Given the description of an element on the screen output the (x, y) to click on. 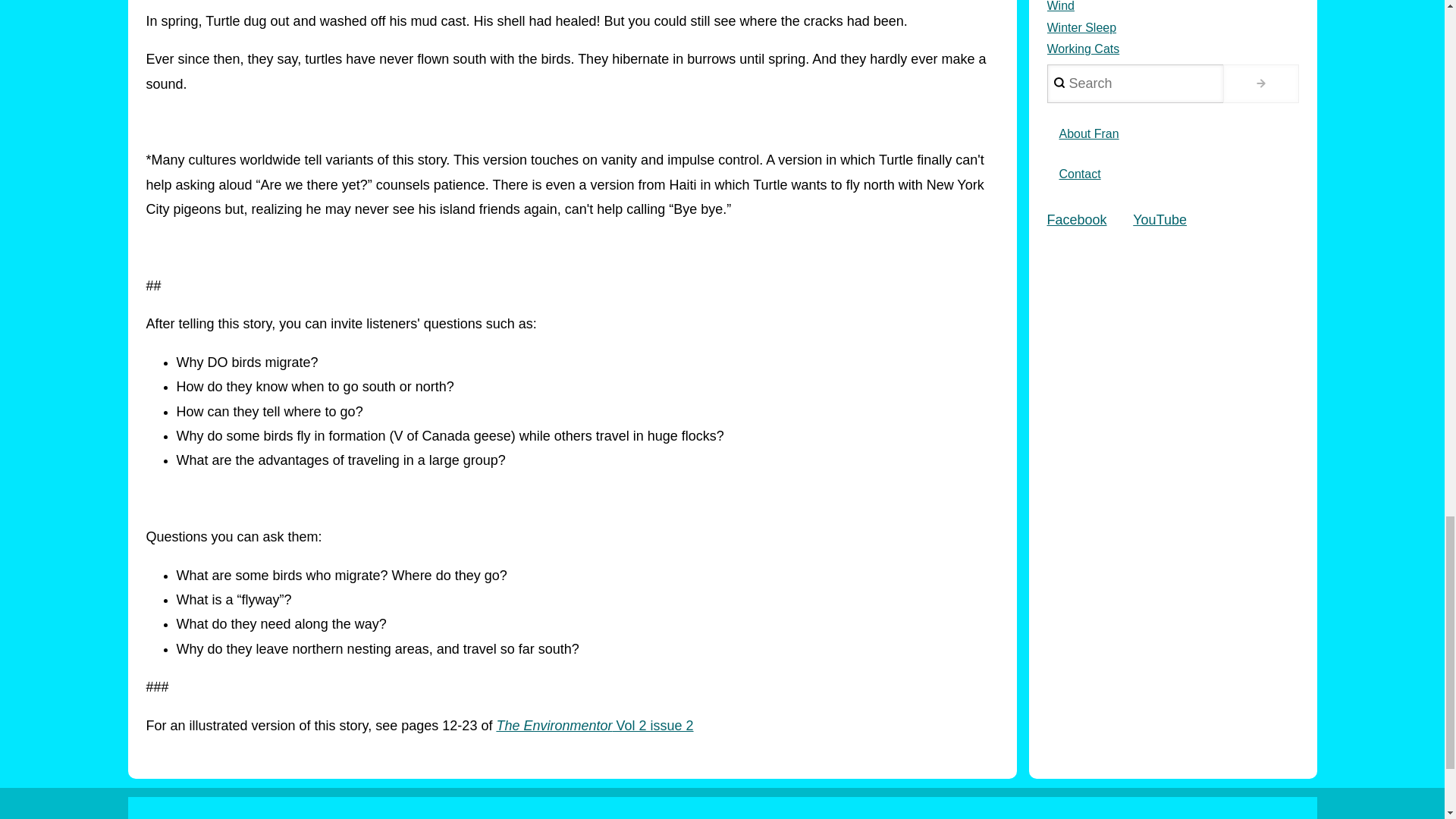
Enter the terms you wish to search for. (1134, 83)
. (1260, 83)
The Environmentor Vol 2 issue 2 (594, 724)
. (1260, 83)
